Given the description of an element on the screen output the (x, y) to click on. 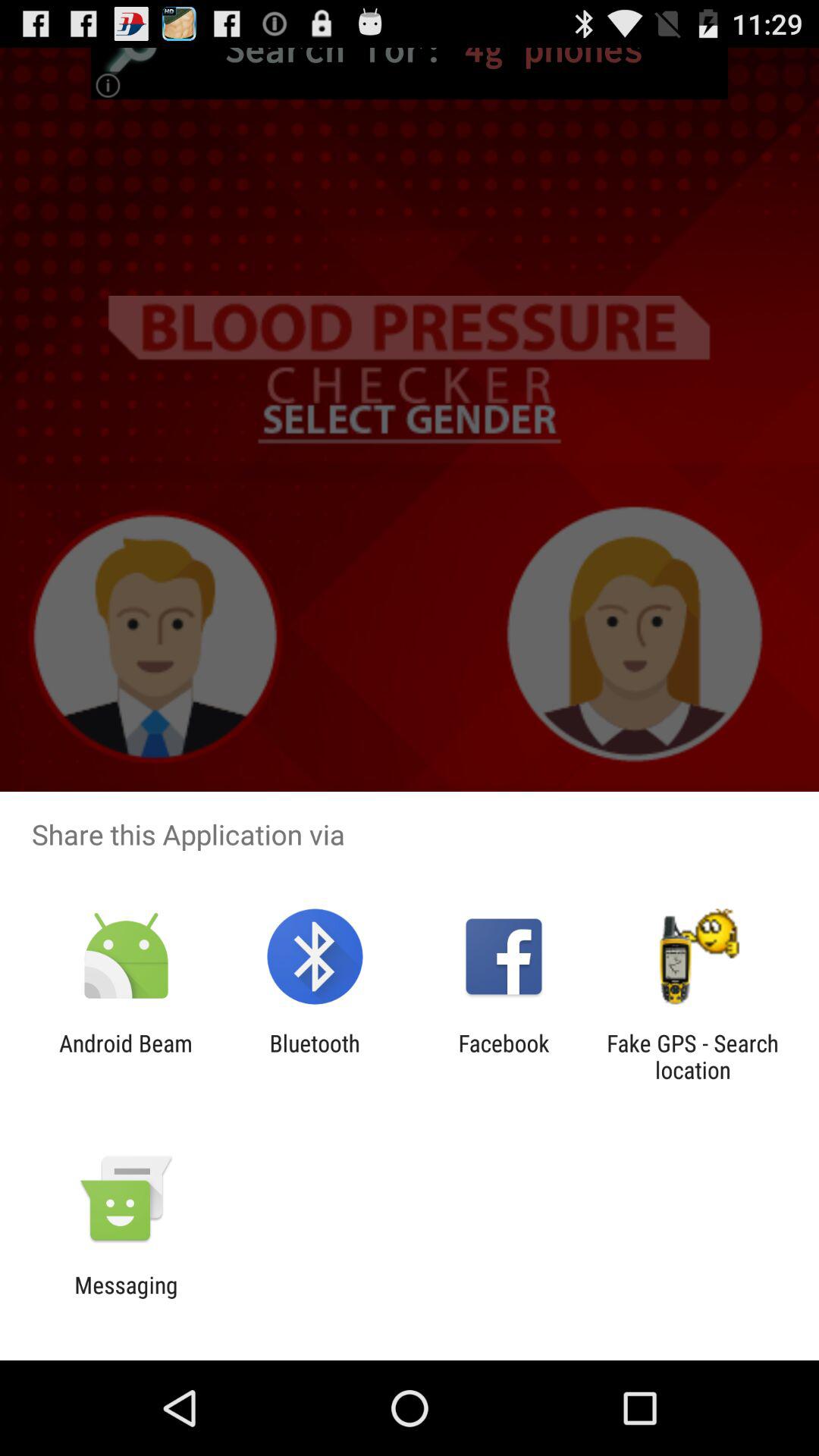
click item to the left of facebook (314, 1056)
